Given the description of an element on the screen output the (x, y) to click on. 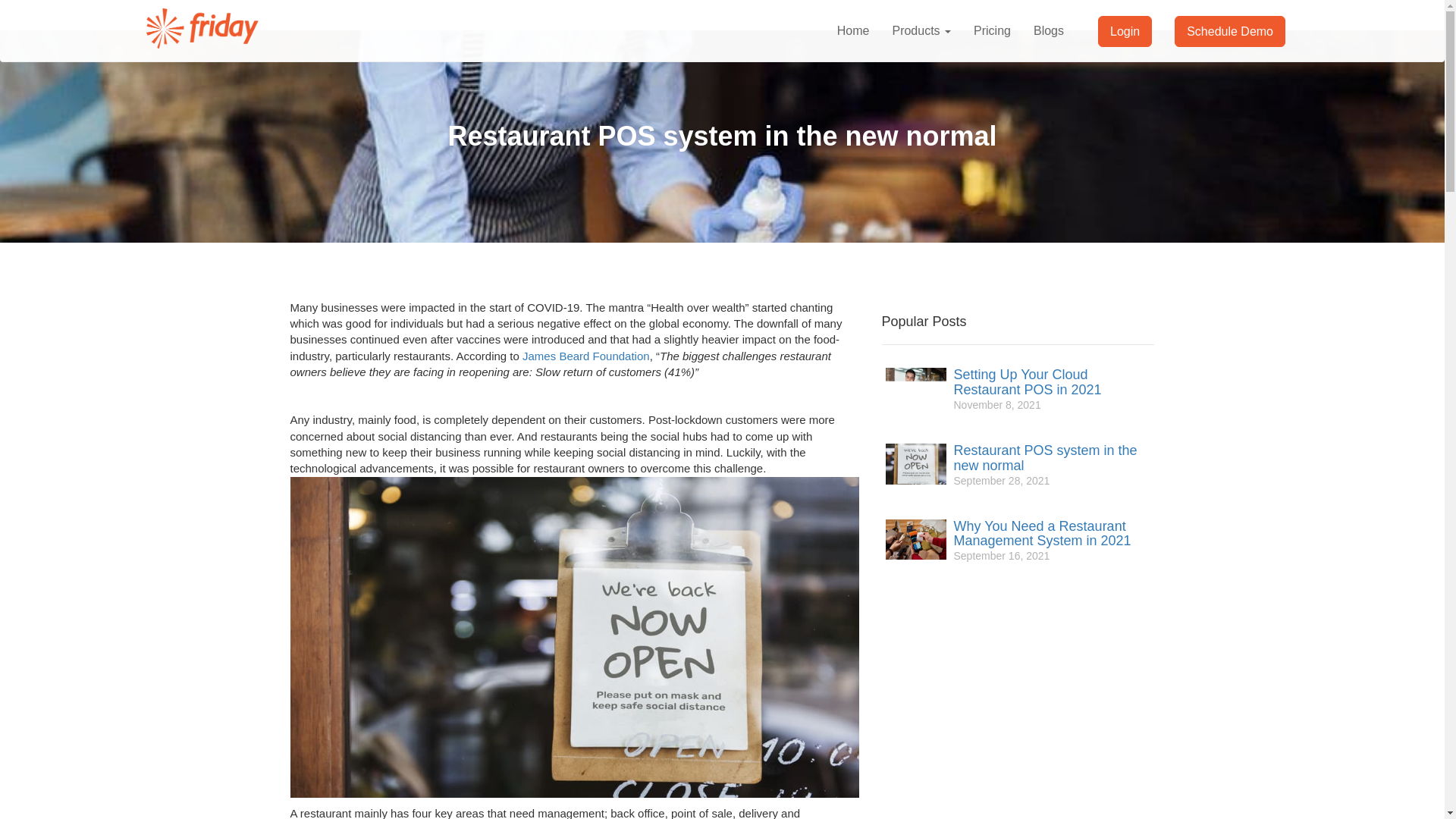
Blogs (1048, 30)
Pricing (992, 30)
Pricing (992, 30)
Schedule Demo (1229, 30)
Schedule Demo (1229, 30)
Home (852, 30)
Login (1124, 30)
Blogs (1048, 30)
Products (921, 30)
